Given the description of an element on the screen output the (x, y) to click on. 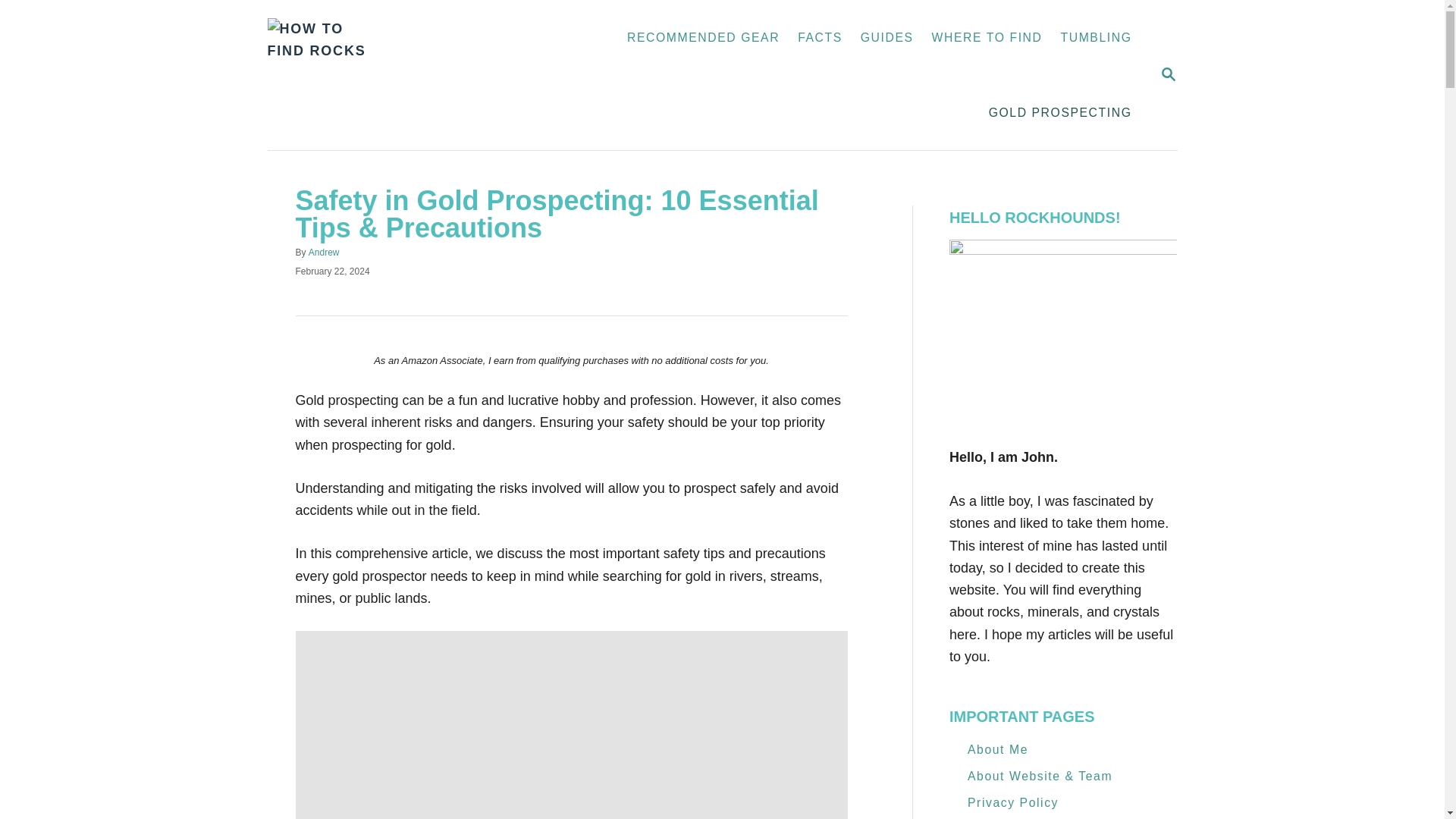
How to Find Rocks (375, 74)
Privacy Policy (1013, 802)
FACTS (820, 37)
About Me (997, 748)
RECOMMENDED GEAR (703, 37)
GOLD PROSPECTING (1060, 112)
Andrew (323, 252)
MAGNIFYING GLASS (1167, 74)
Terms and Conditions (1037, 816)
